Given the description of an element on the screen output the (x, y) to click on. 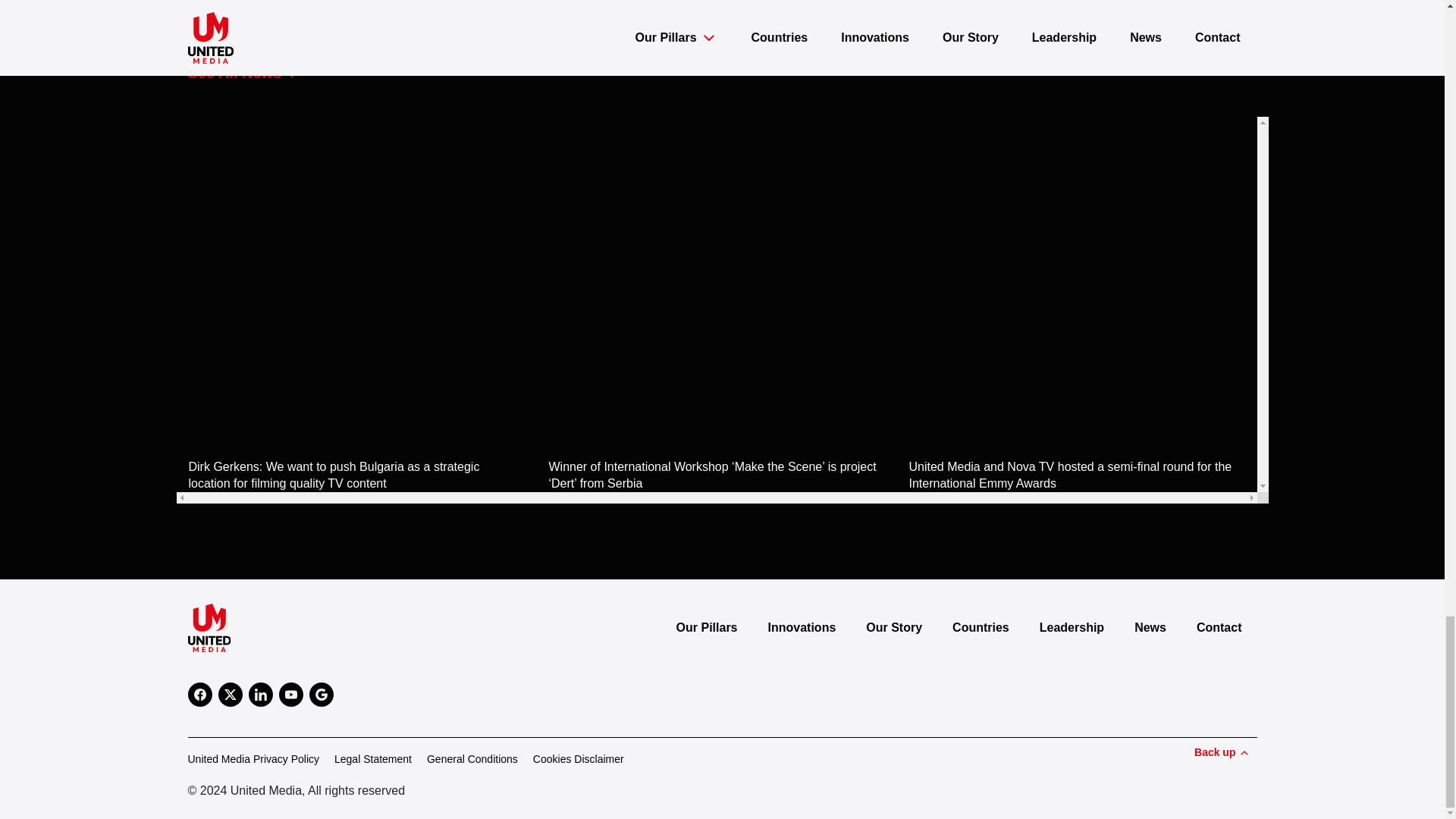
Innovations (801, 627)
Our Story (893, 627)
Leadership (1072, 627)
Our Pillars (706, 627)
Contact (1218, 627)
See All News (247, 72)
News (1149, 627)
Countries (981, 627)
